Given the description of an element on the screen output the (x, y) to click on. 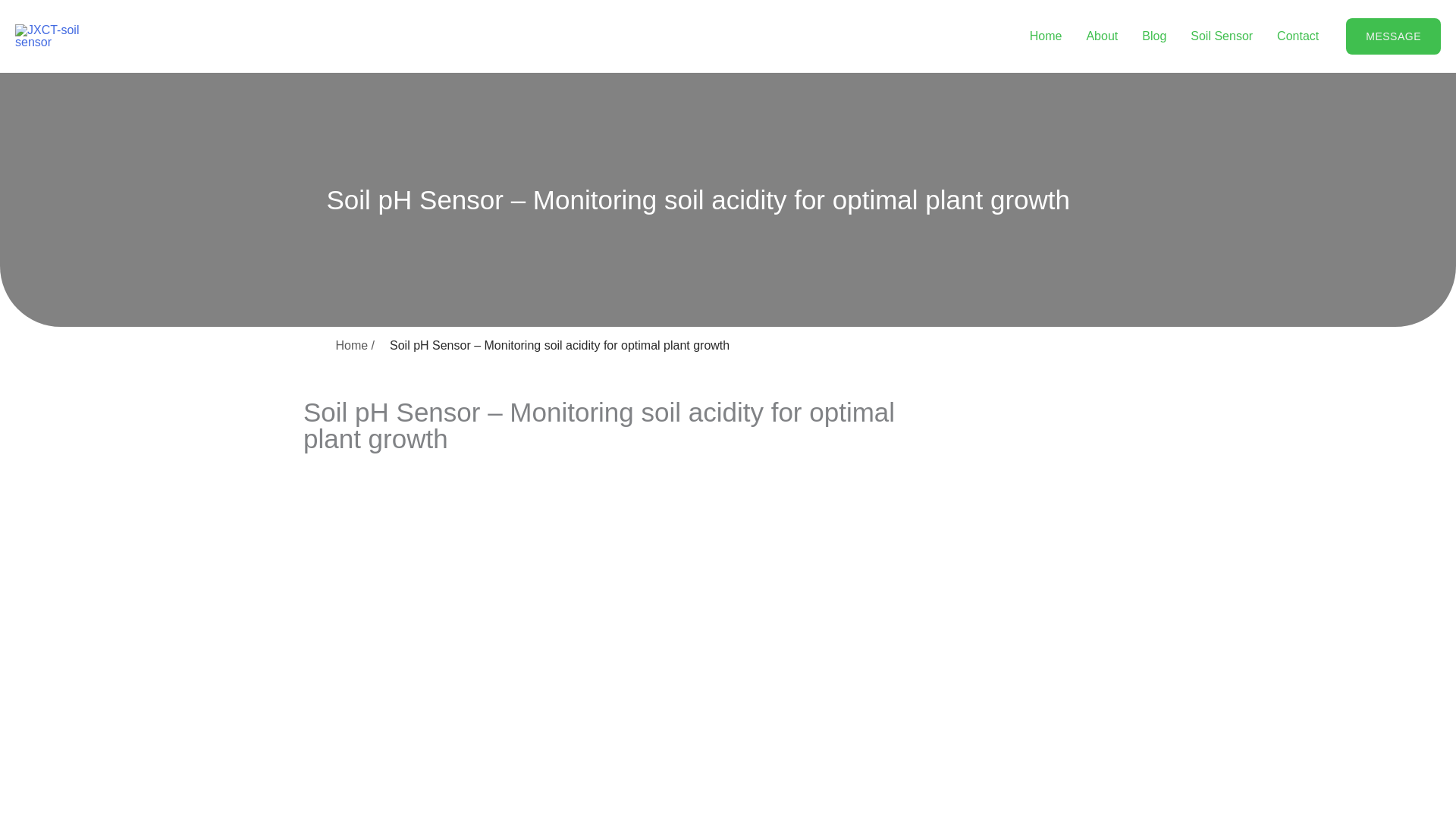
Home (1045, 36)
Blog (1153, 36)
About (1101, 36)
Contact (1297, 36)
Soil Sensor (1221, 36)
MESSAGE (1393, 36)
